Given the description of an element on the screen output the (x, y) to click on. 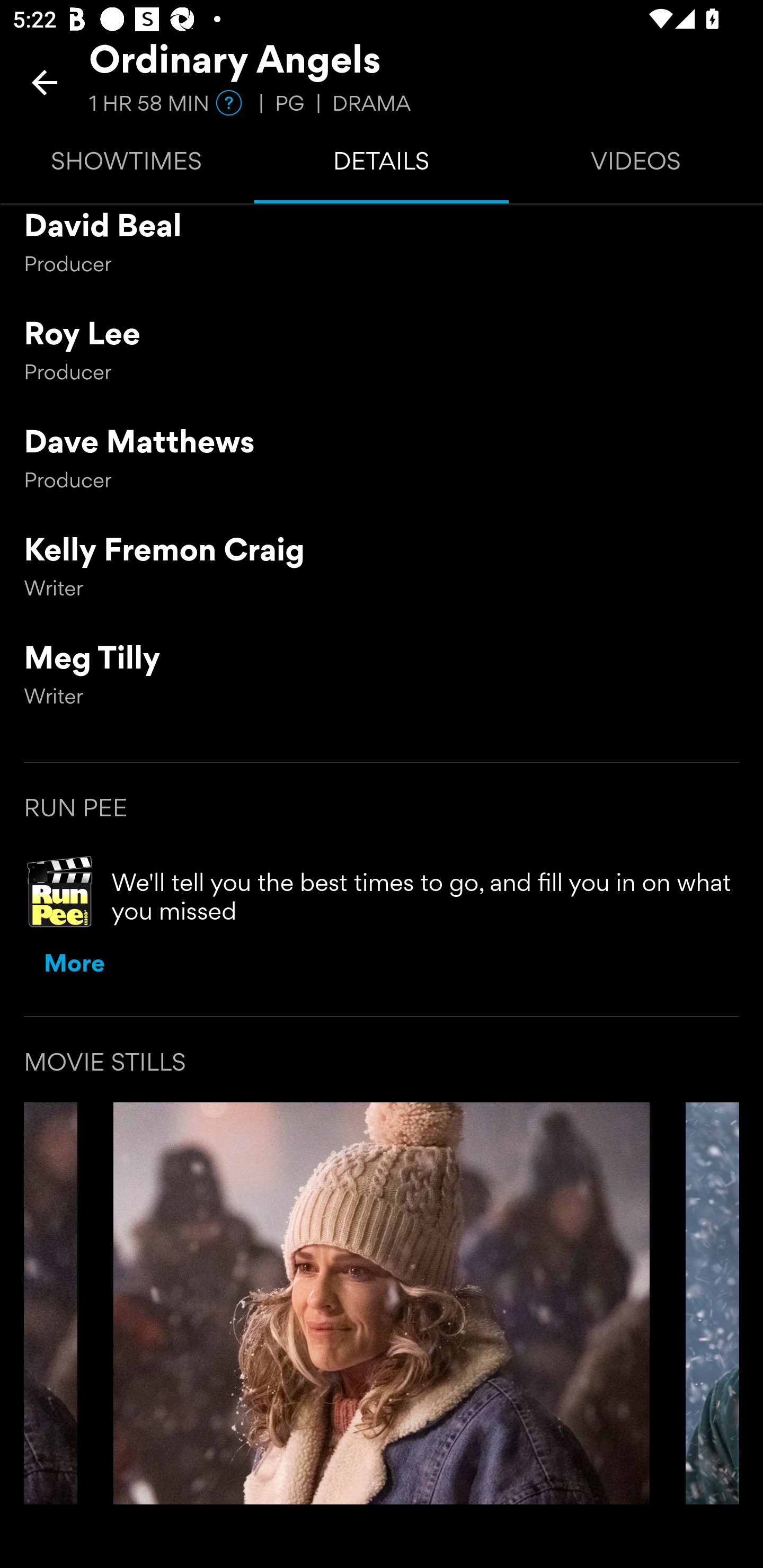
Back (44, 82)
SHOWTIMES
Tab 1 of 3 (127, 165)
DETAILS
Tab 2 of 3 (381, 165)
VIDEOS
Tab 3 of 3 (635, 165)
More (74, 965)
